Given the description of an element on the screen output the (x, y) to click on. 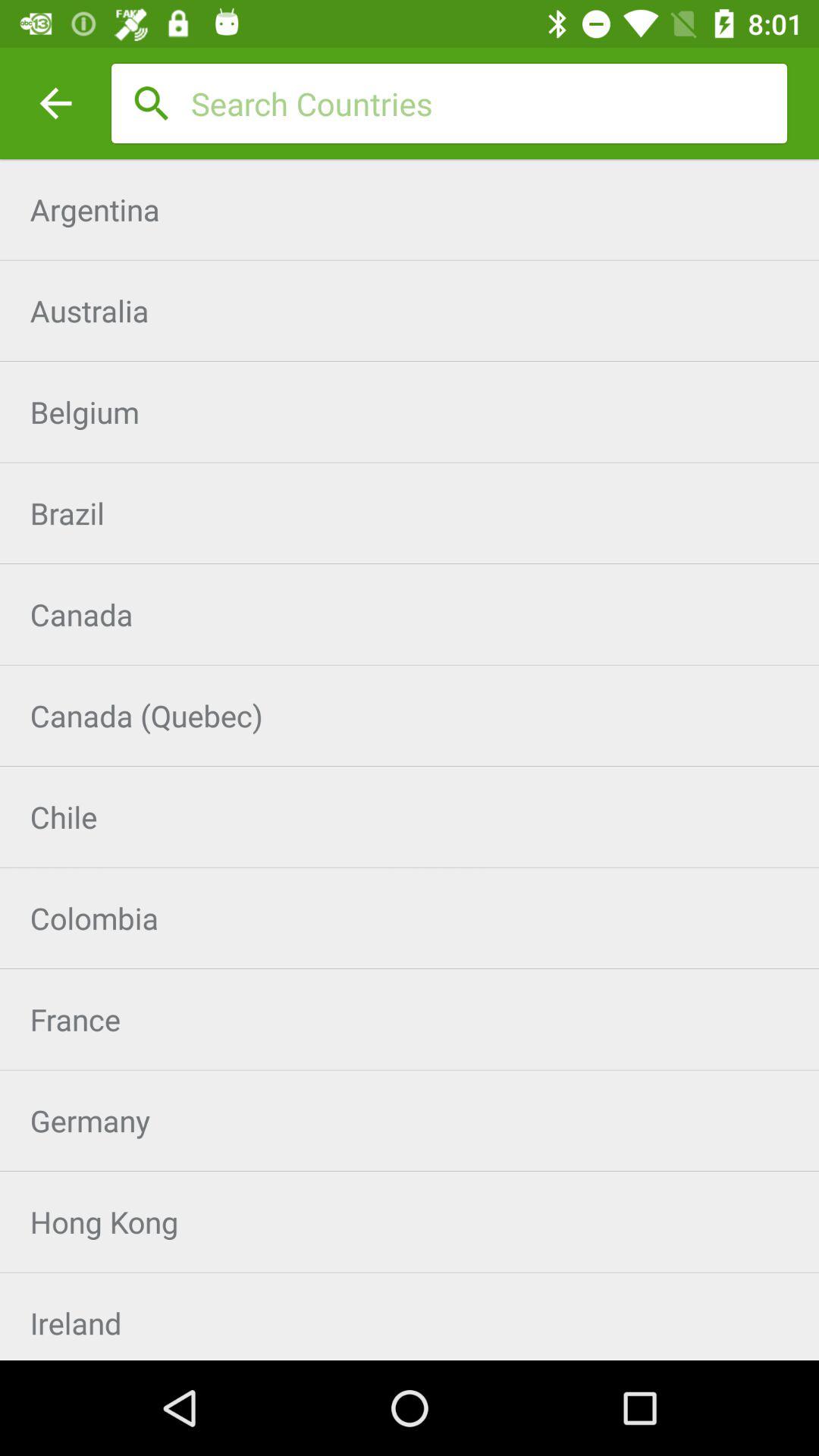
turn off colombia icon (409, 917)
